Given the description of an element on the screen output the (x, y) to click on. 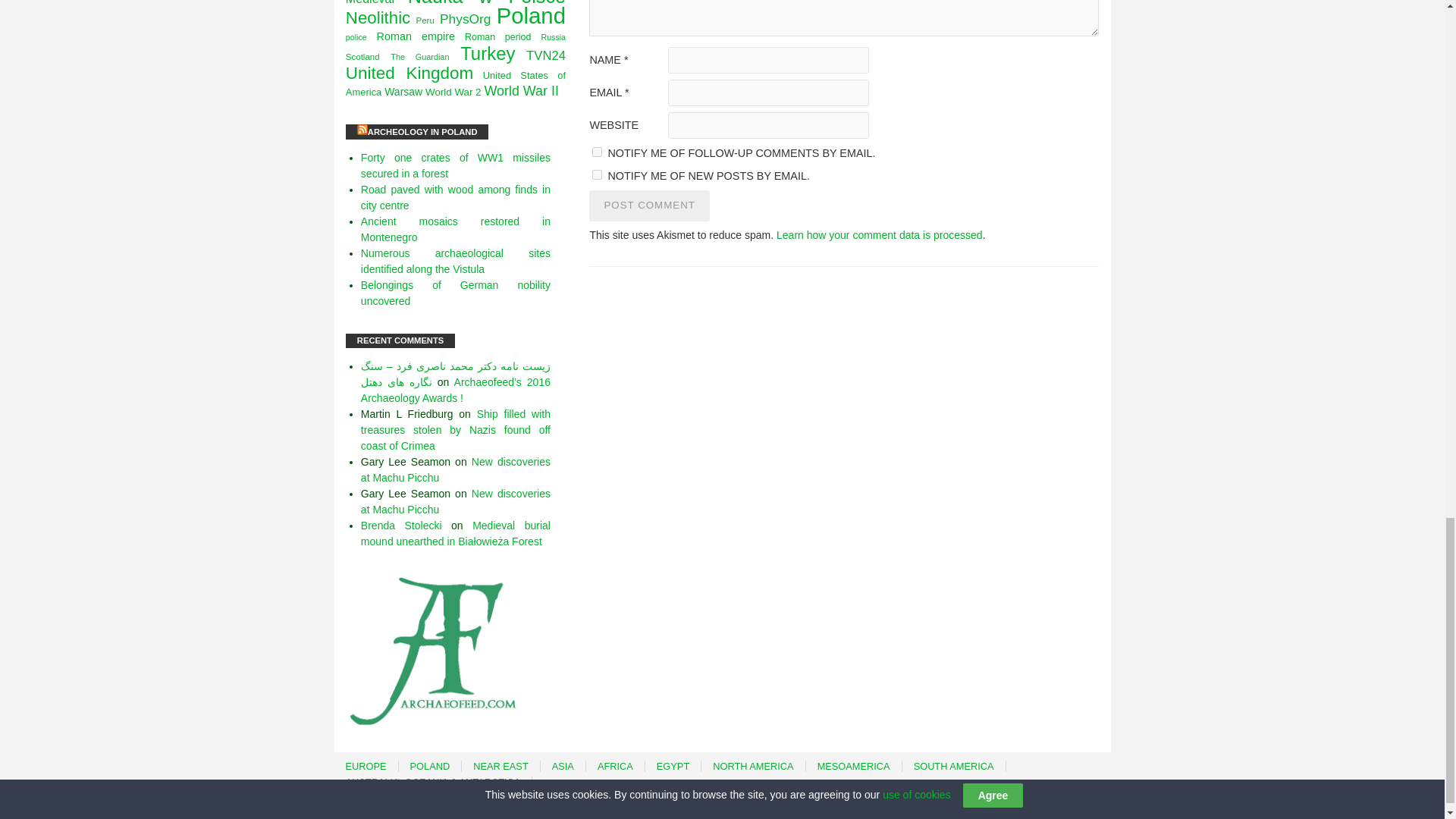
Post Comment (649, 205)
subscribe (597, 152)
subscribe (597, 174)
